Given the description of an element on the screen output the (x, y) to click on. 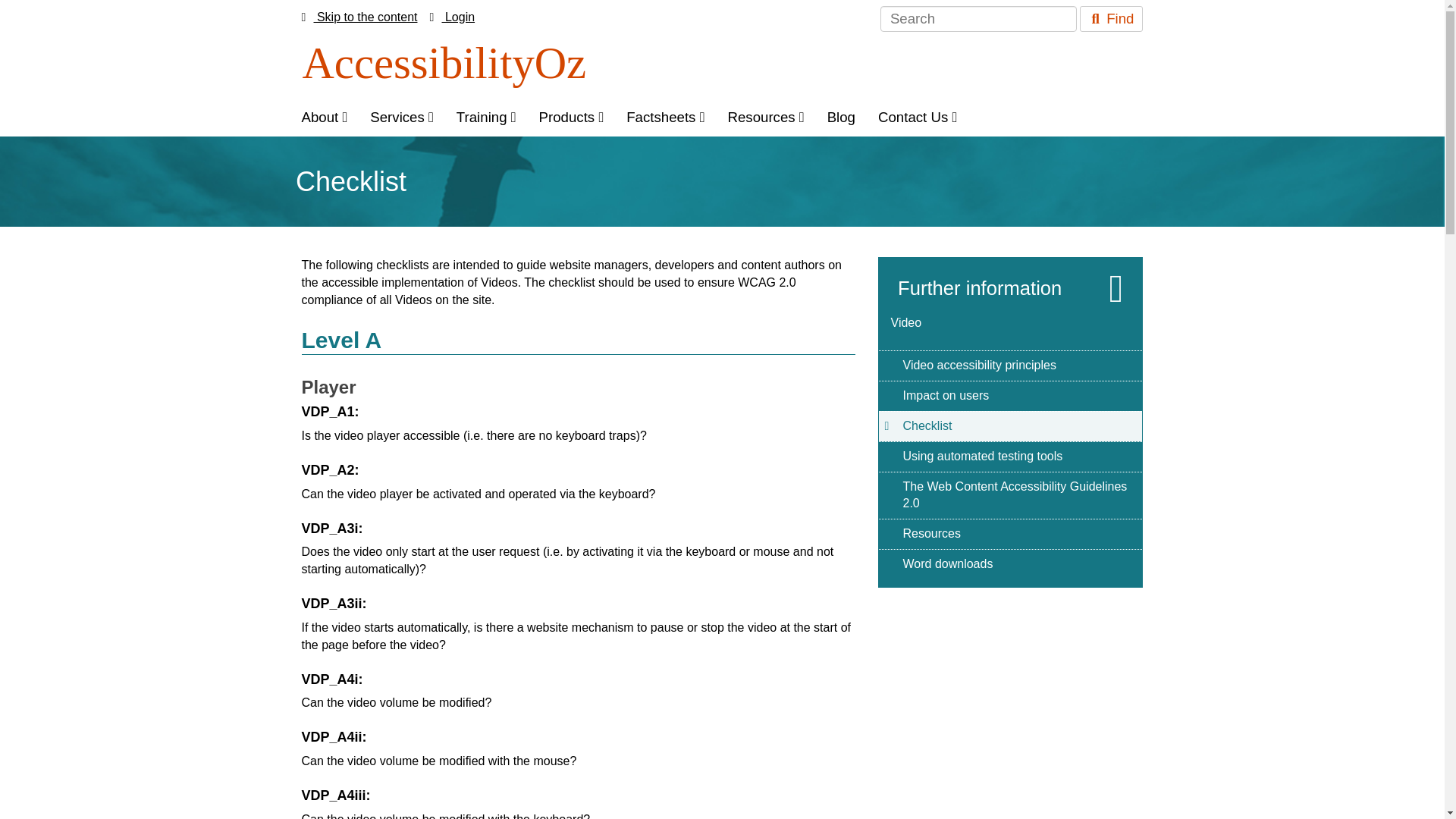
Login (451, 16)
Services (401, 117)
Training (486, 117)
Skip to the content (359, 16)
Products (571, 117)
Find (1110, 18)
About (323, 117)
AccessibilityOz (444, 62)
